Given the description of an element on the screen output the (x, y) to click on. 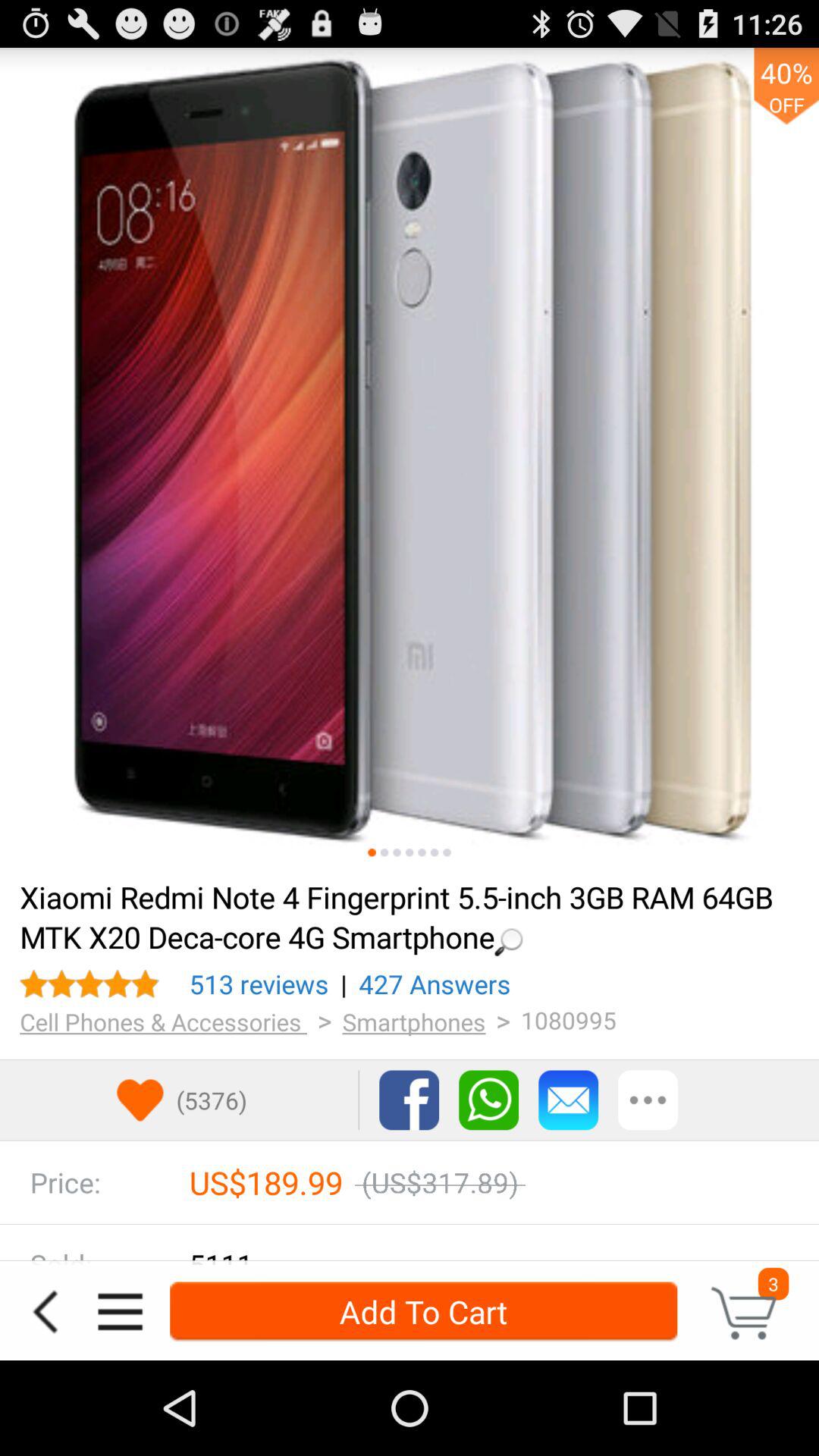
open icon to the left of 1080995 (434, 983)
